Given the description of an element on the screen output the (x, y) to click on. 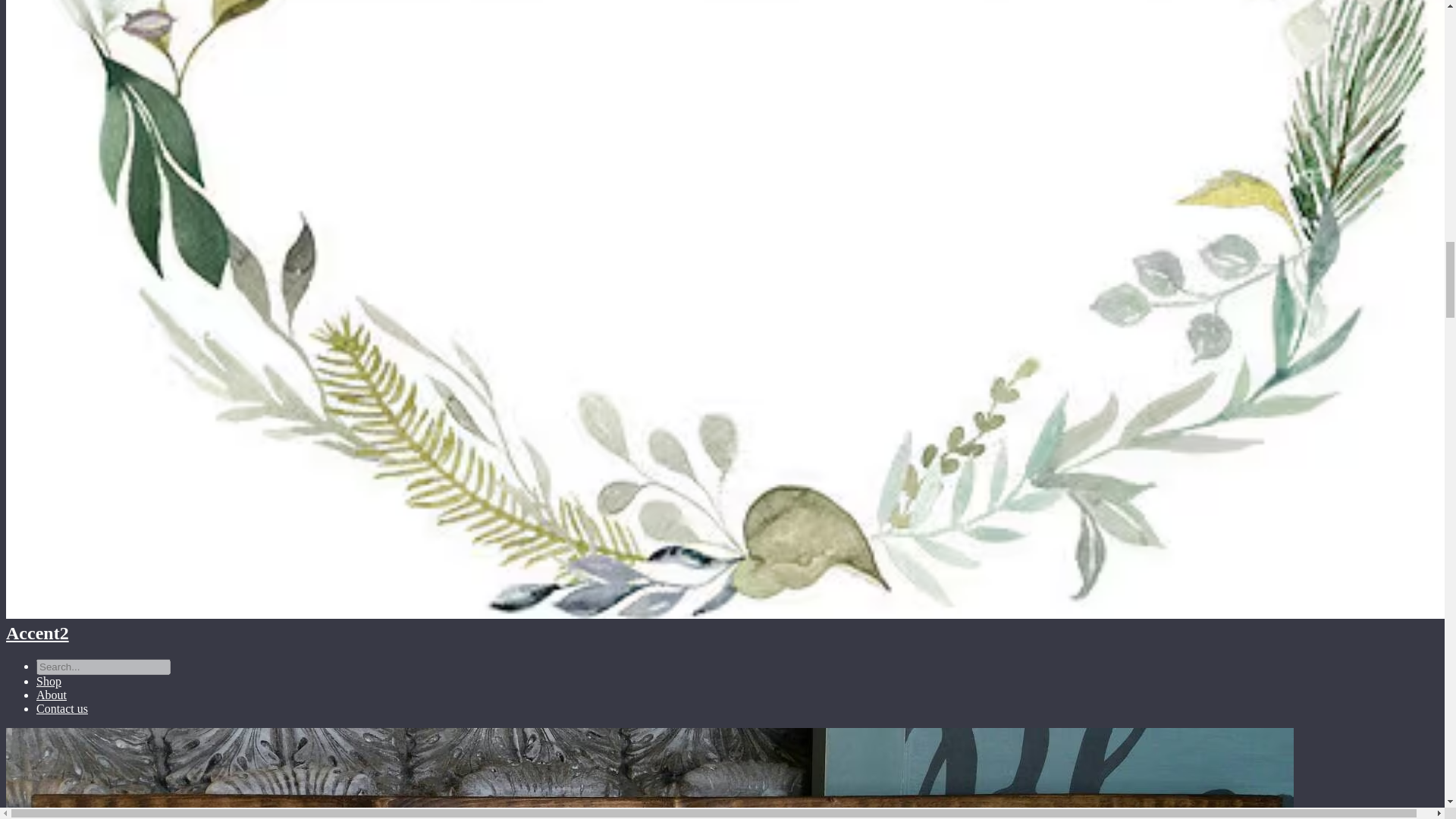
Shop (48, 680)
Contact us (61, 707)
About (51, 694)
